Given the description of an element on the screen output the (x, y) to click on. 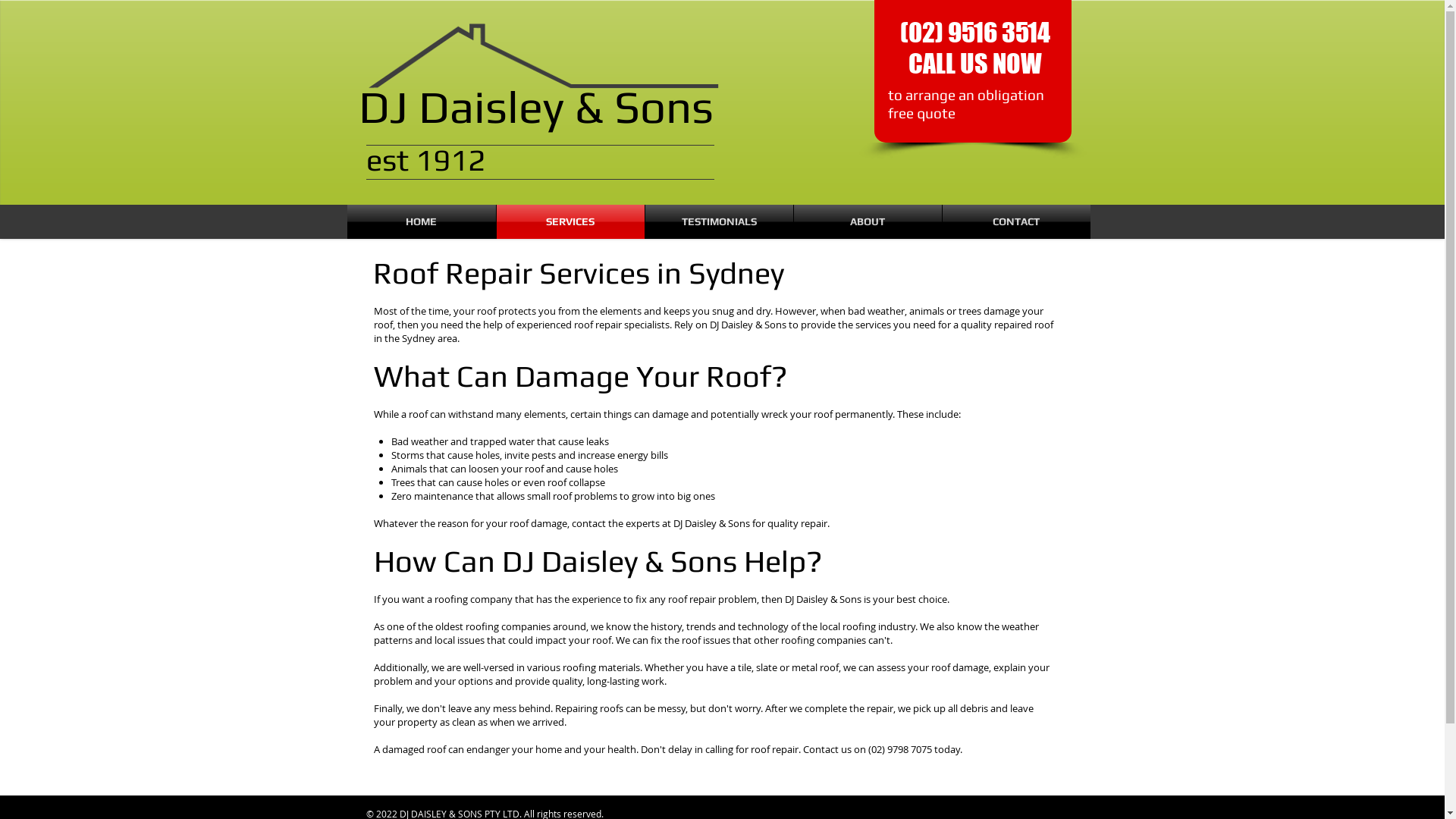
ABOUT Element type: text (867, 221)
CONTACT Element type: text (1015, 221)
TESTIMONIALS Element type: text (718, 221)
SERVICES Element type: text (569, 221)
HOME Element type: text (421, 221)
